Given the description of an element on the screen output the (x, y) to click on. 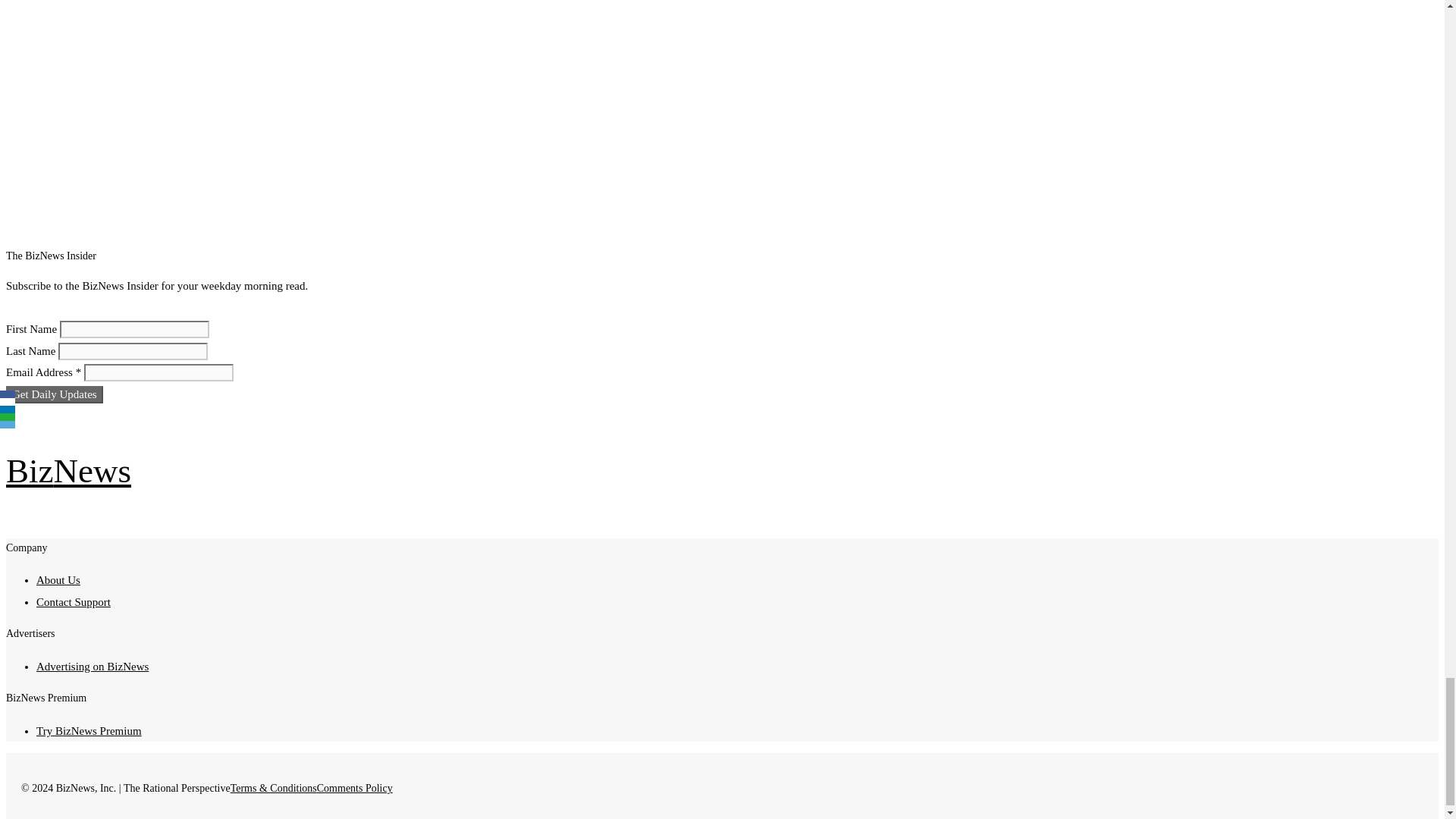
BizNews (68, 470)
Get Daily Updates (54, 394)
